Given the description of an element on the screen output the (x, y) to click on. 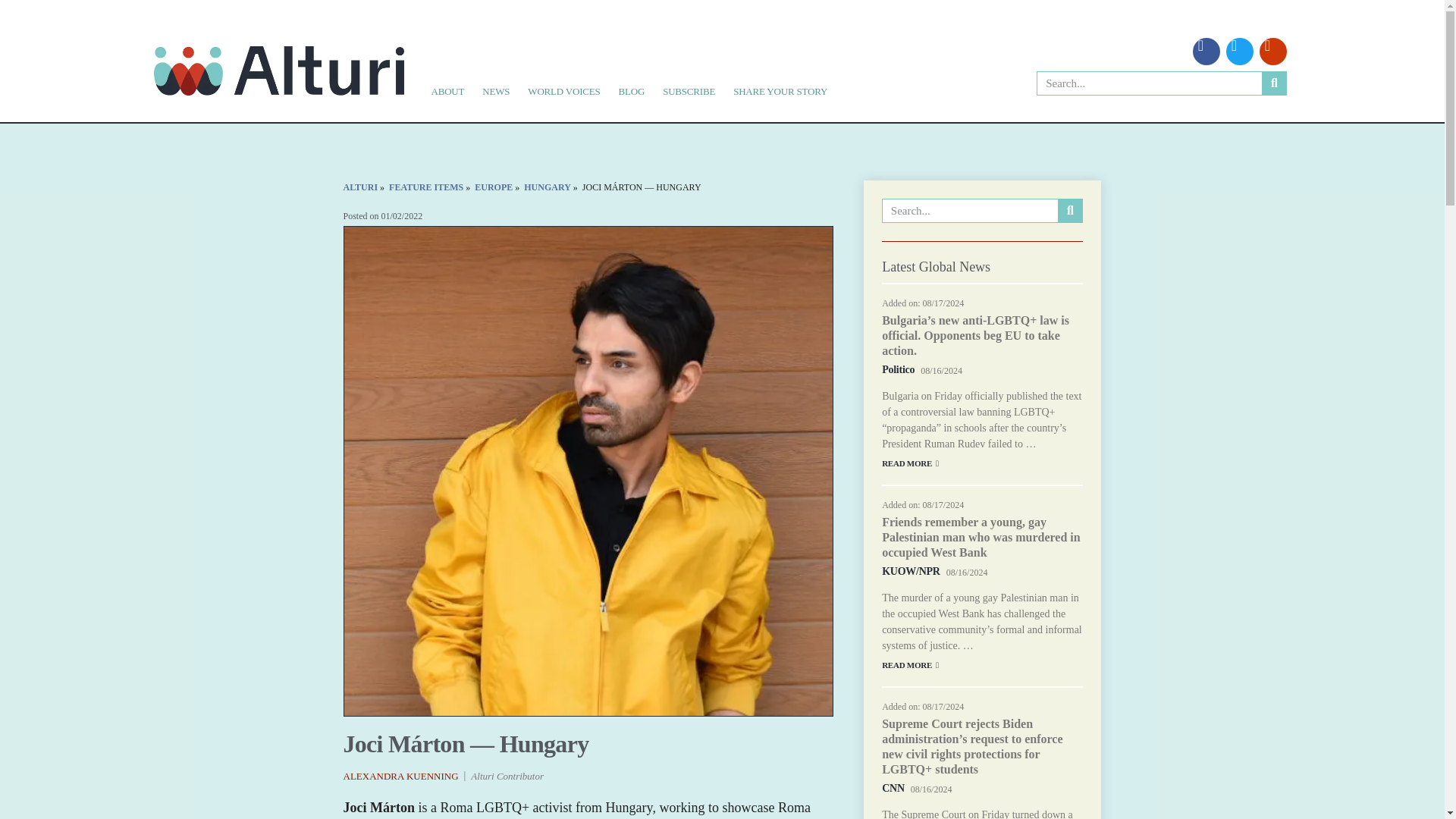
Go to the Europe category archives. (493, 186)
FEATURE ITEMS (425, 186)
EUROPE (493, 186)
Go to Alturi. (359, 186)
BLOG (631, 91)
ALEXANDRA KUENNING (400, 776)
SUBSCRIBE (688, 91)
Go to Feature Items. (425, 186)
HUNGARY (547, 186)
SHARE YOUR STORY (779, 91)
